Given the description of an element on the screen output the (x, y) to click on. 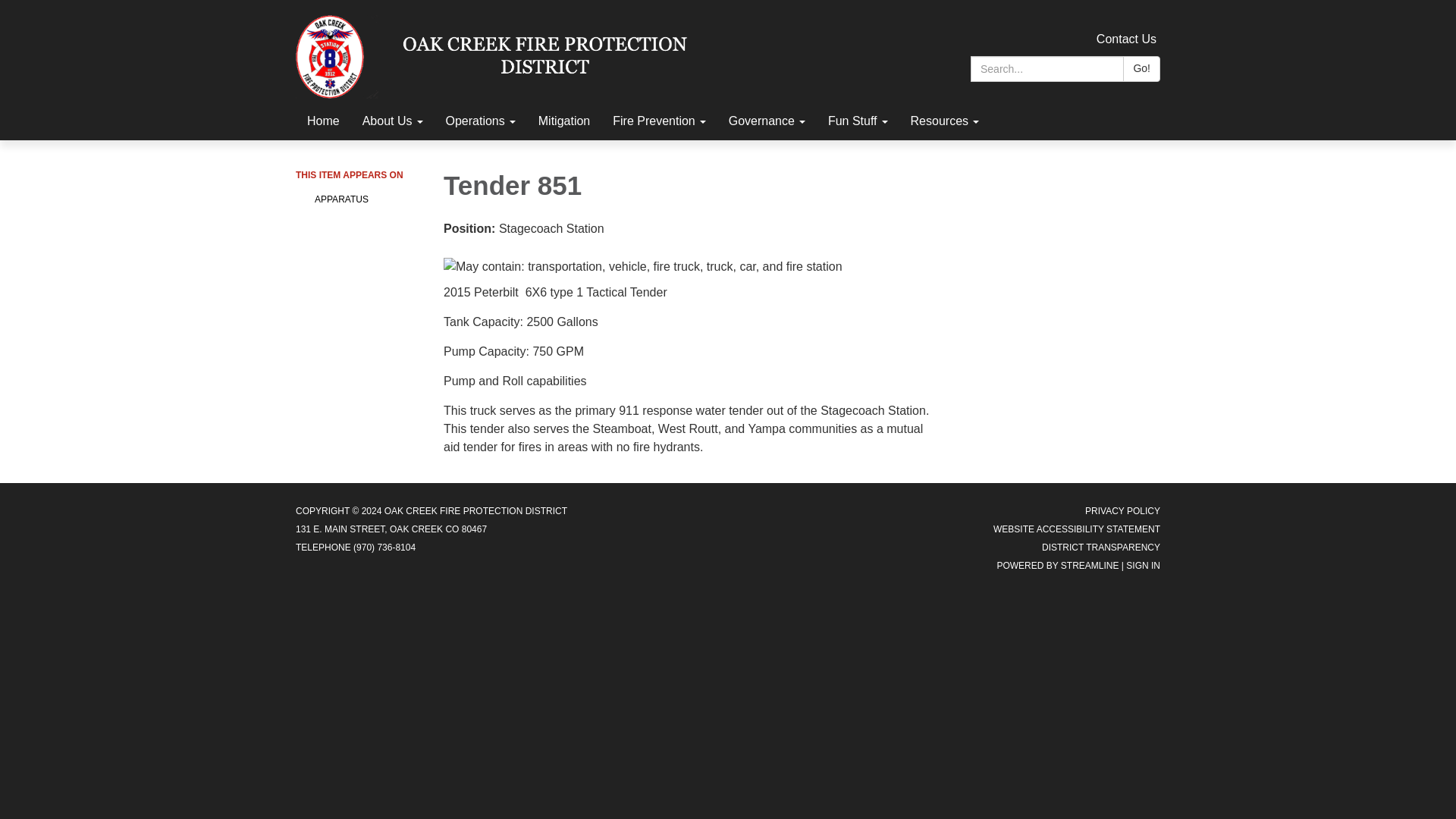
Special District Transparency Report (1101, 547)
Governance (766, 121)
Home (322, 121)
Fire Prevention (659, 121)
Operations (479, 121)
Go! (1141, 68)
About Us (391, 121)
Contact Us (1125, 38)
Streamline: Technology for Special Districts (1090, 565)
Mitigation (564, 121)
